Given the description of an element on the screen output the (x, y) to click on. 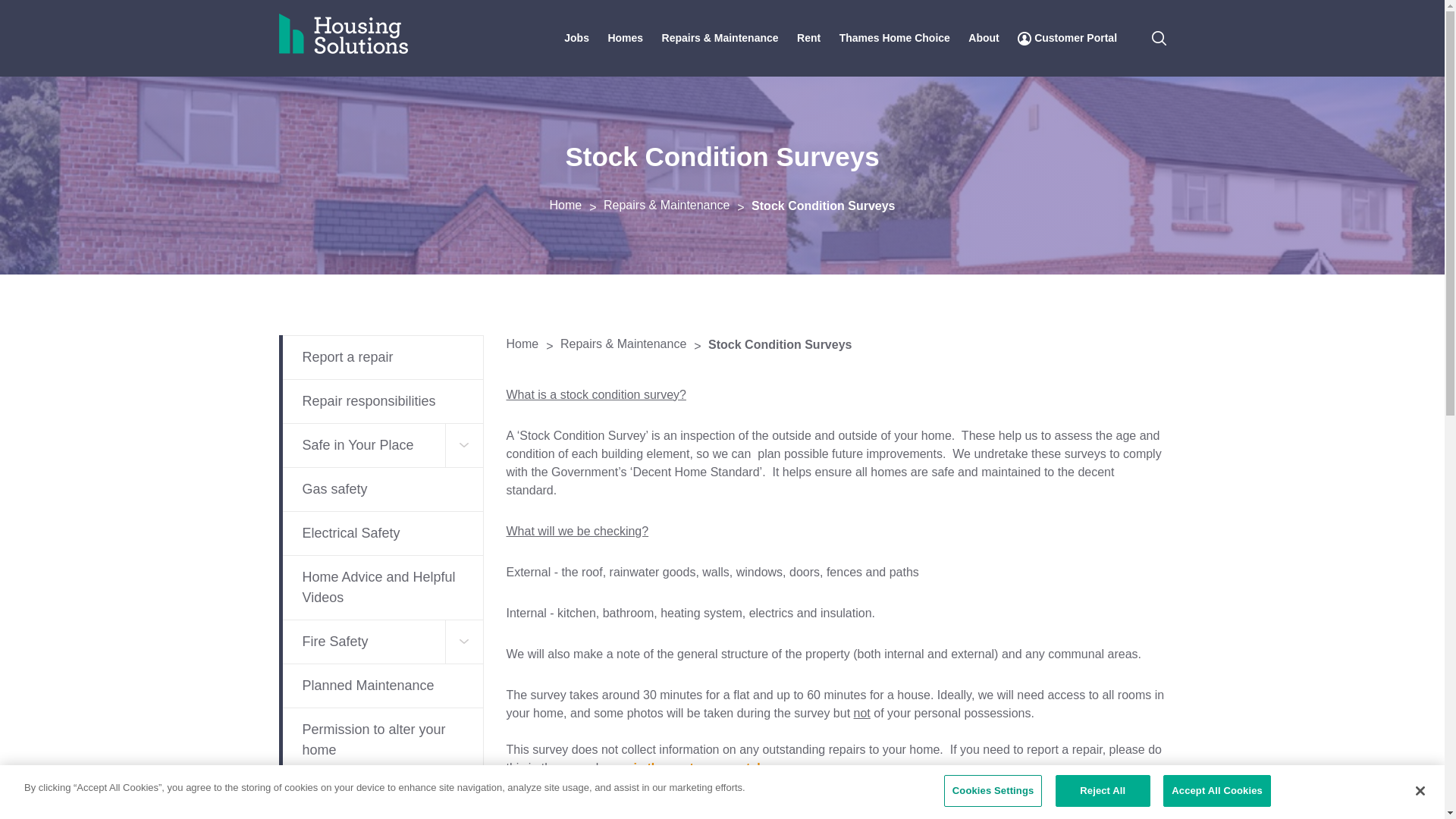
Rent (808, 38)
Home (574, 205)
Home (574, 205)
Safe in Your Place (381, 445)
Safe in Your Place (381, 445)
Customer Portal (1067, 38)
Home Advice and Helpful Videos (381, 587)
Electrical Safety (381, 533)
Home (368, 27)
About (983, 38)
Homes (624, 38)
About (983, 38)
Site Search (1158, 38)
Customer Portal (1067, 38)
Jobs (576, 38)
